Given the description of an element on the screen output the (x, y) to click on. 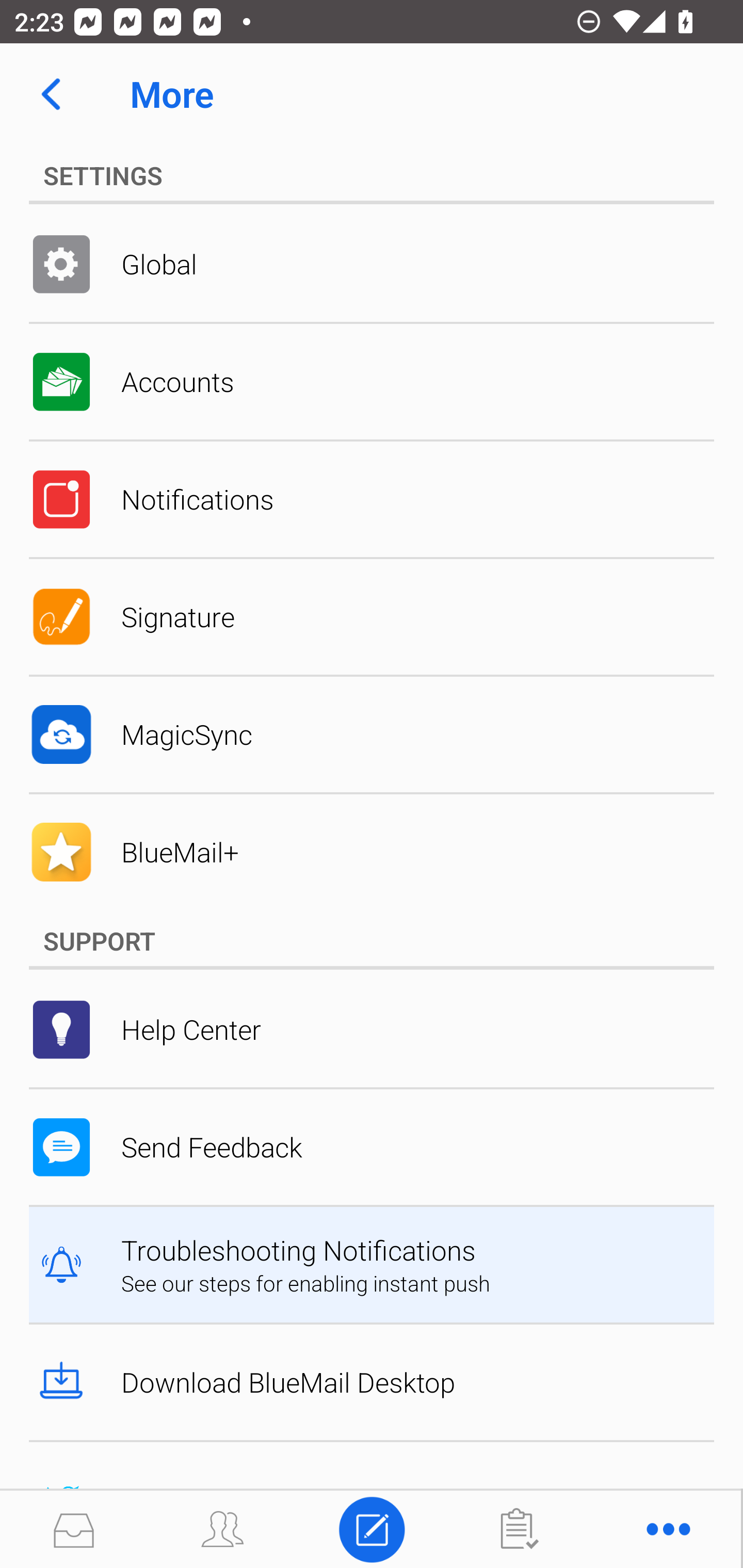
Navigate up (50, 93)
Global (371, 263)
Accounts (371, 381)
Notifications (371, 499)
Signature (371, 616)
MagicSync (371, 734)
BlueMail+ (371, 851)
Help Center (371, 1029)
Send Feedback (371, 1146)
Download BlueMail Desktop (371, 1381)
